Given the description of an element on the screen output the (x, y) to click on. 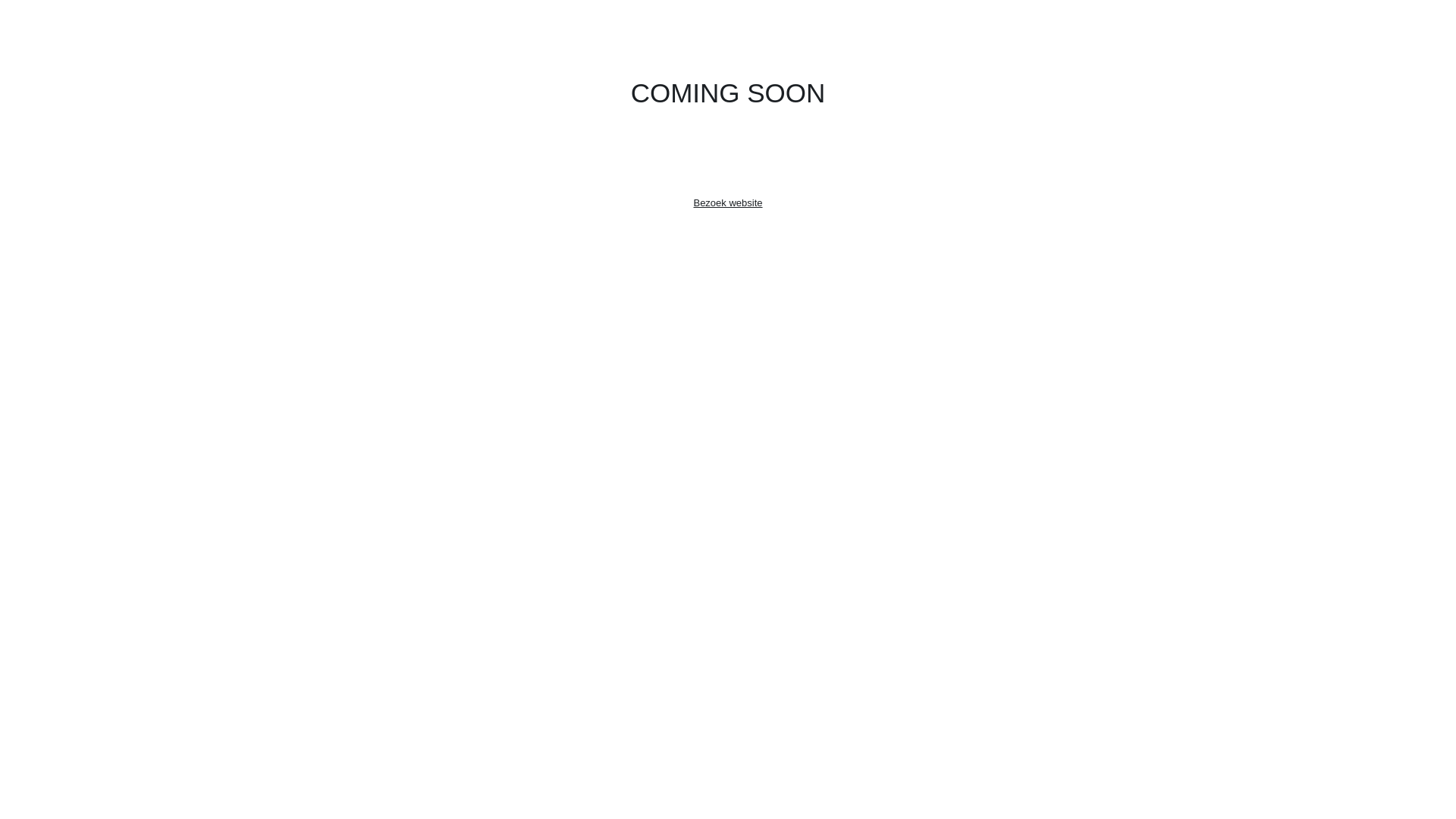
Bezoek website Element type: text (727, 202)
